Given the description of an element on the screen output the (x, y) to click on. 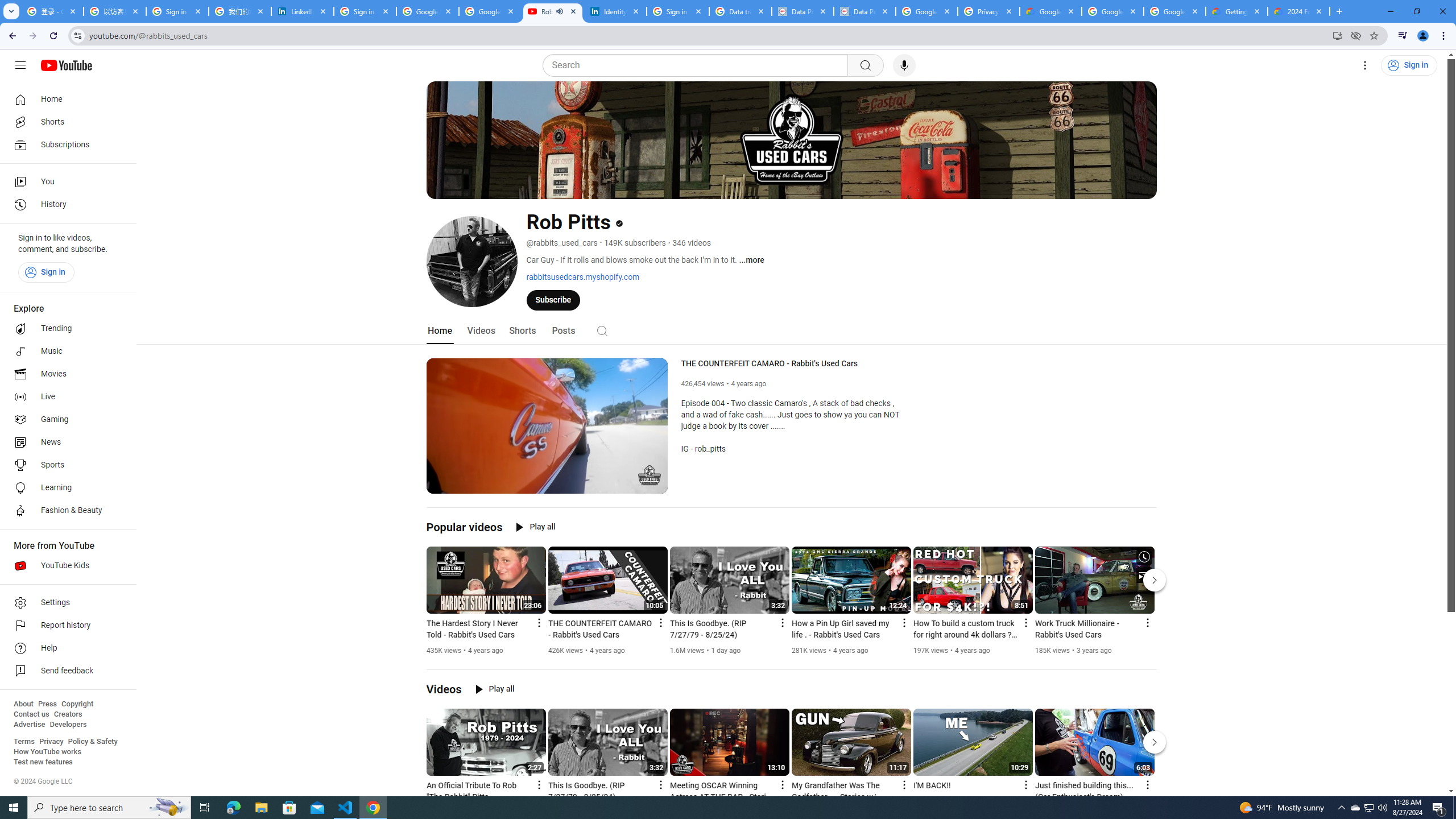
Subscriptions (64, 144)
Sign in - Google Accounts (177, 11)
Trending (64, 328)
Search with your voice (903, 65)
Videos (443, 688)
YouTube Kids (64, 565)
LinkedIn Privacy Policy (302, 11)
Videos (481, 330)
Data Privacy Framework (802, 11)
Developers (68, 724)
How YouTube works (47, 751)
